Given the description of an element on the screen output the (x, y) to click on. 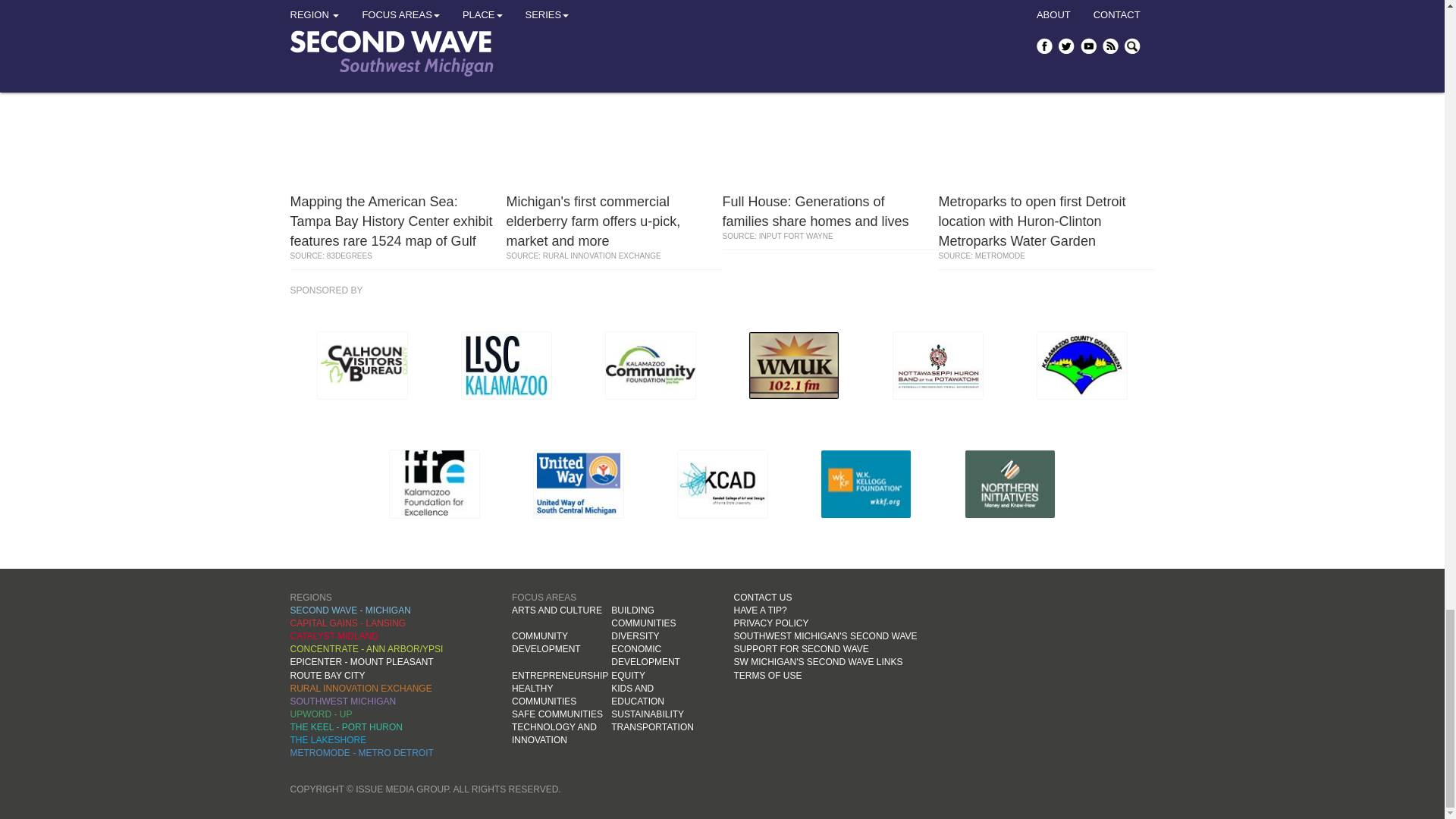
Calhoun Visitors Bureau (362, 365)
Michigan LISC (506, 365)
KCAD (574, 5)
